Given the description of an element on the screen output the (x, y) to click on. 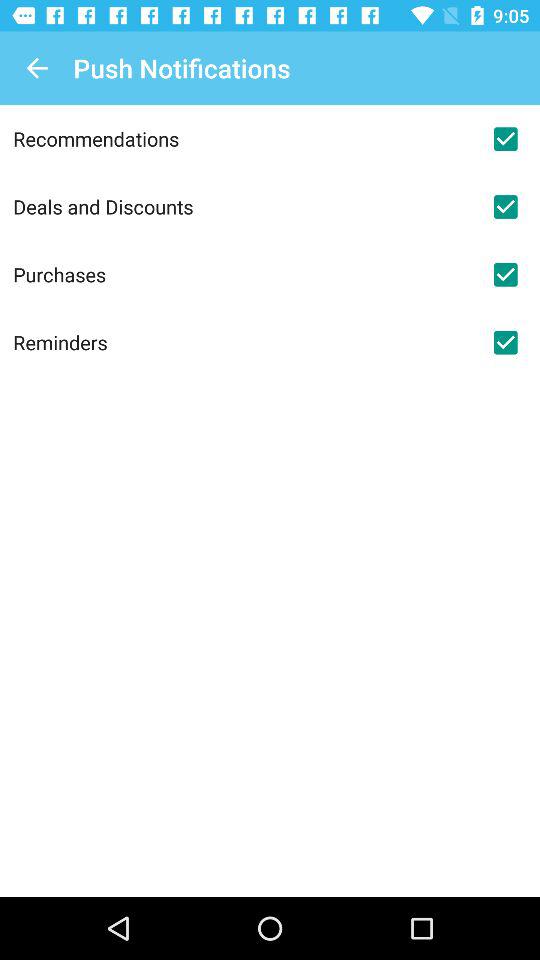
press item below the deals and discounts icon (242, 274)
